Given the description of an element on the screen output the (x, y) to click on. 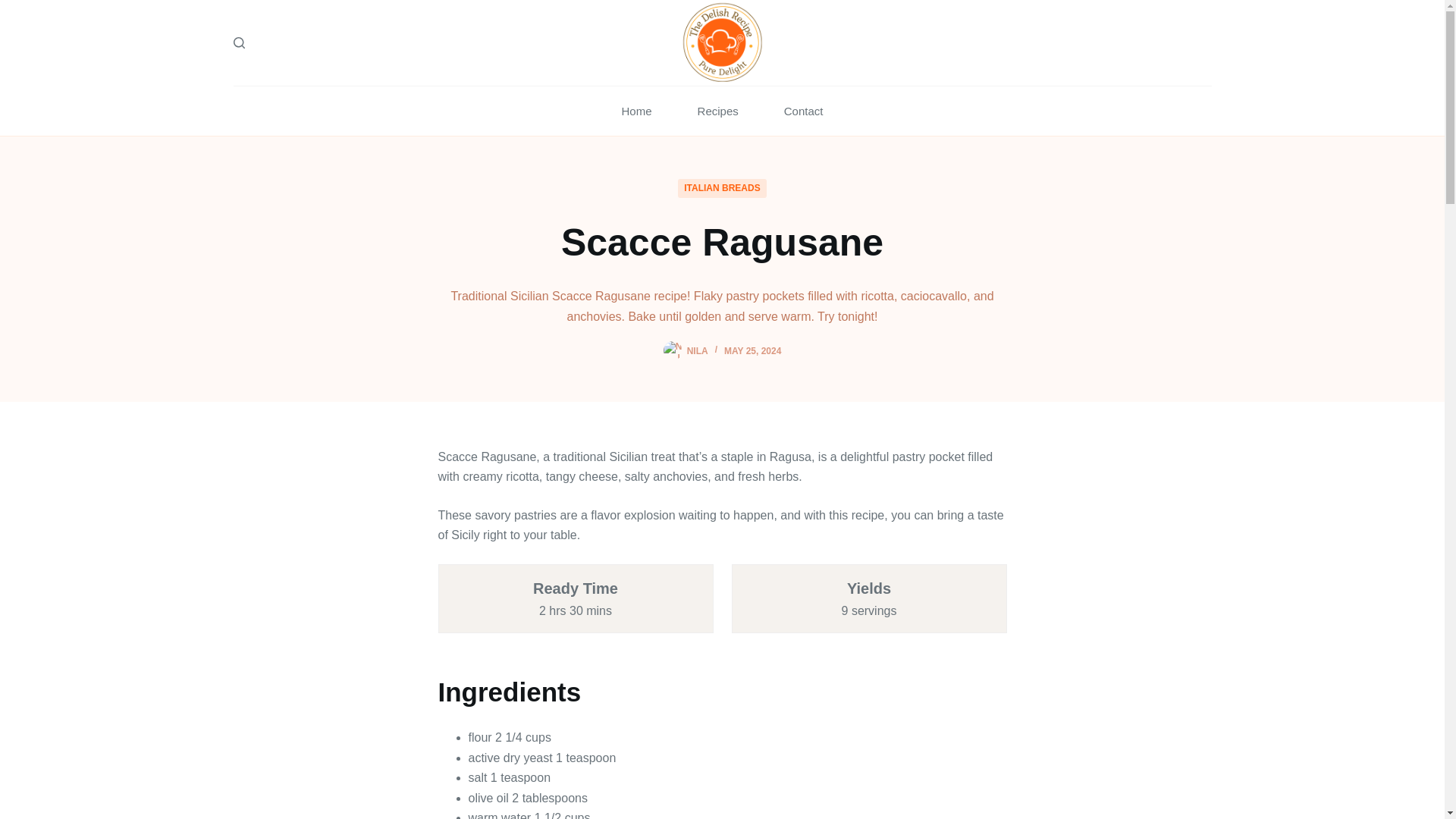
Scacce Ragusane (722, 242)
Home (636, 110)
Posts by Nila (697, 350)
NILA (697, 350)
Skip to content (15, 7)
Contact (803, 110)
ITALIAN BREADS (721, 188)
Recipes (718, 110)
